Given the description of an element on the screen output the (x, y) to click on. 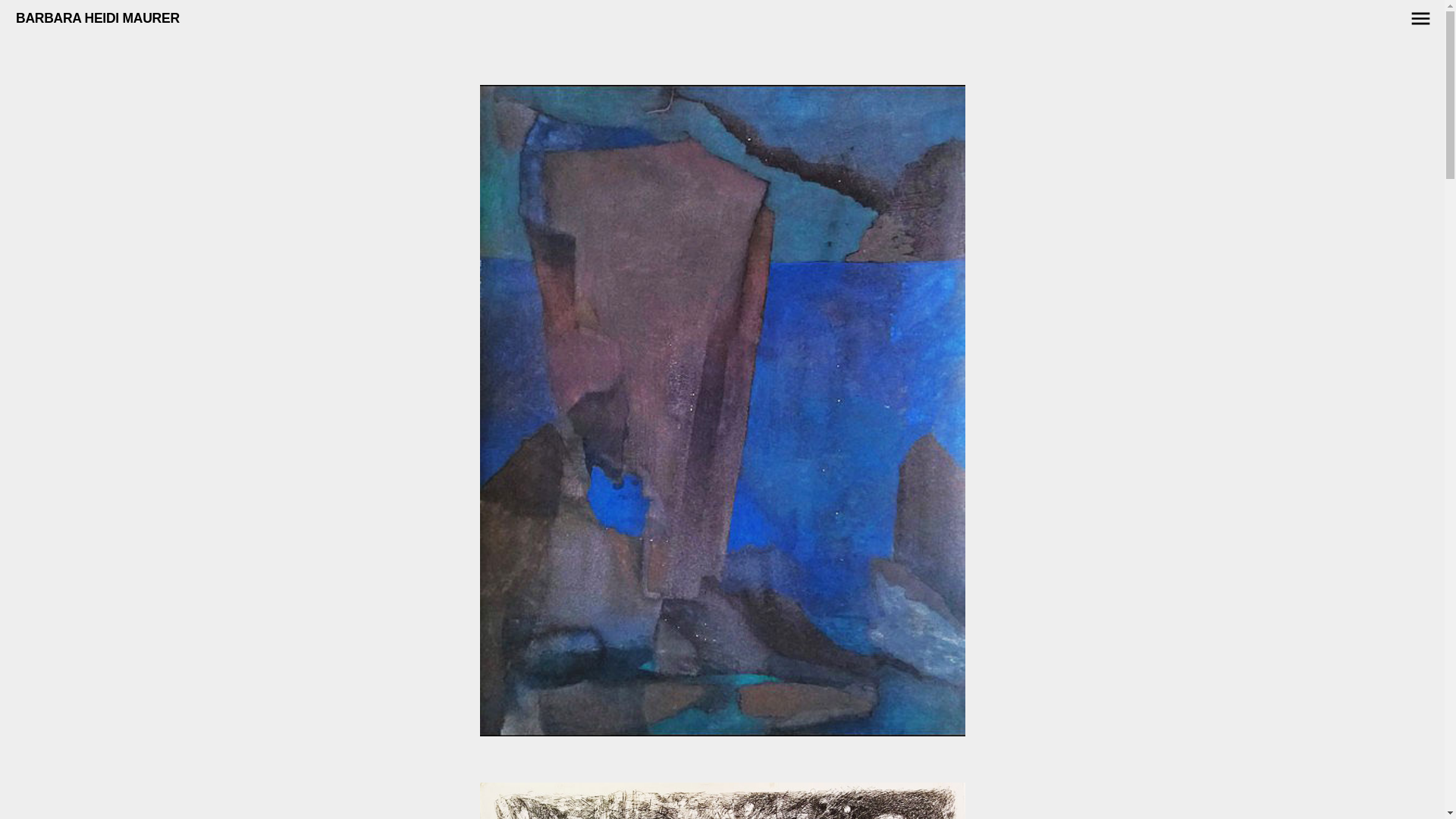
BARBARA HEIDI MAURER Element type: text (97, 18)
